Given the description of an element on the screen output the (x, y) to click on. 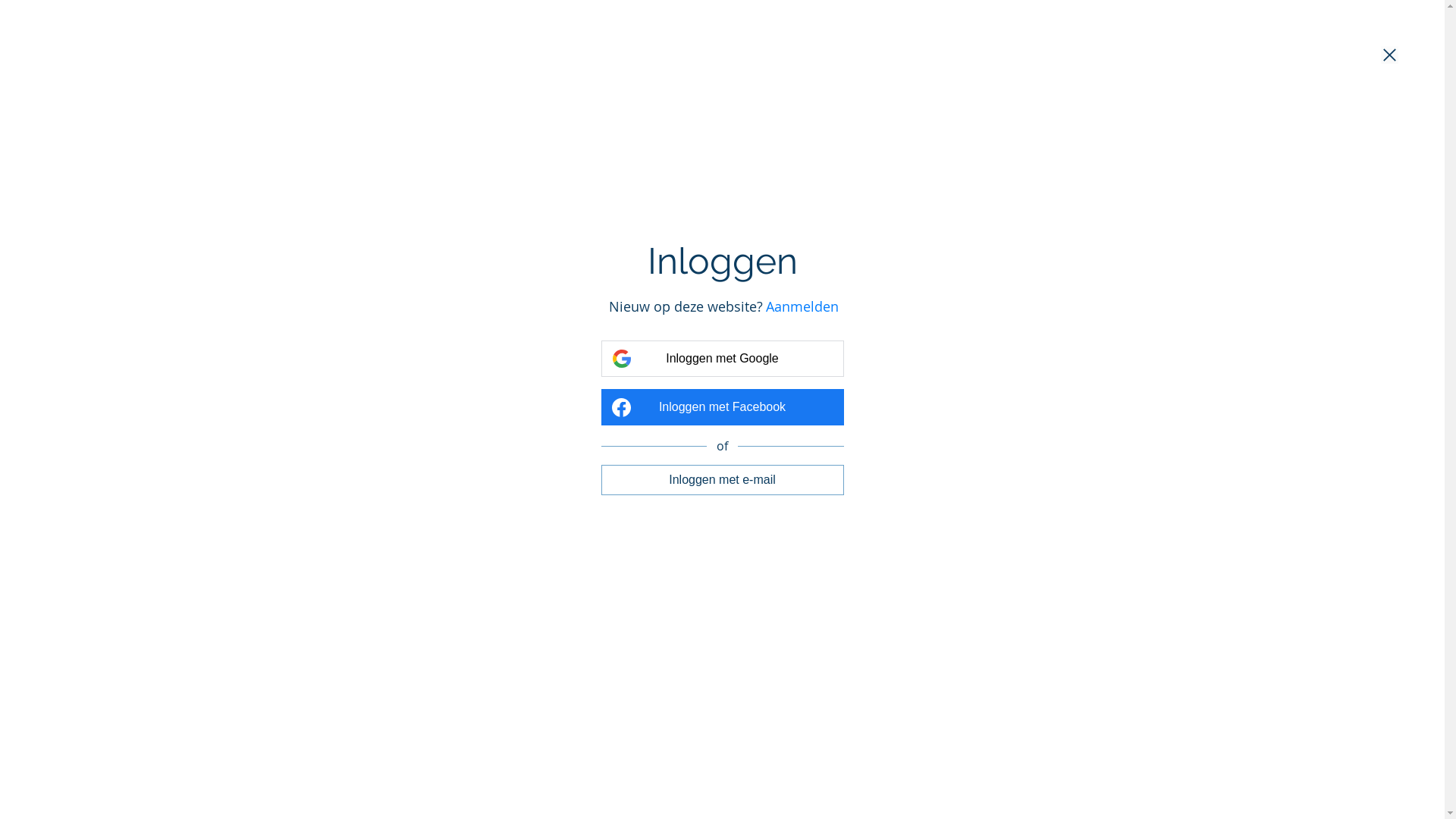
Inloggen met e-mail Element type: text (721, 479)
Inloggen met Facebook Element type: text (721, 407)
Inloggen met Google Element type: text (721, 358)
Aanmelden Element type: text (801, 306)
